Given the description of an element on the screen output the (x, y) to click on. 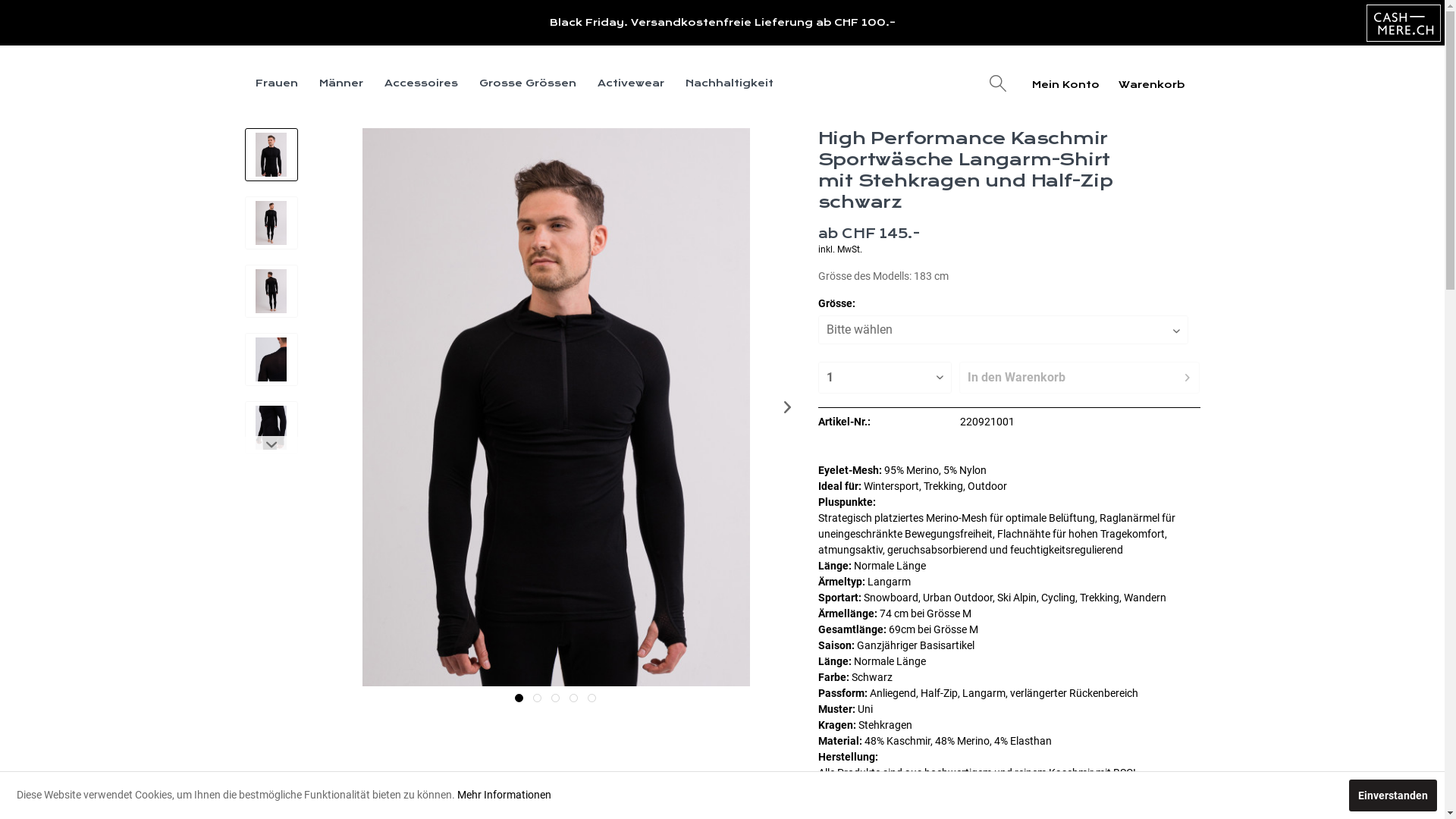
Mehr Informationen Element type: text (504, 794)
CASH-MERE.CH -  Element type: hover (1403, 22)
Frauen Element type: text (275, 83)
Warenkorb Element type: text (1156, 83)
  Element type: text (537, 697)
Einverstanden Element type: text (1393, 795)
  Element type: text (573, 697)
Activewear Element type: text (630, 83)
Nachhaltigkeit Element type: text (729, 83)
  Element type: text (518, 697)
Accessoires Element type: text (420, 83)
  Element type: text (555, 697)
Mein Konto Element type: text (1065, 83)
  Element type: text (591, 697)
In den Warenkorb Element type: text (1079, 377)
